Given the description of an element on the screen output the (x, y) to click on. 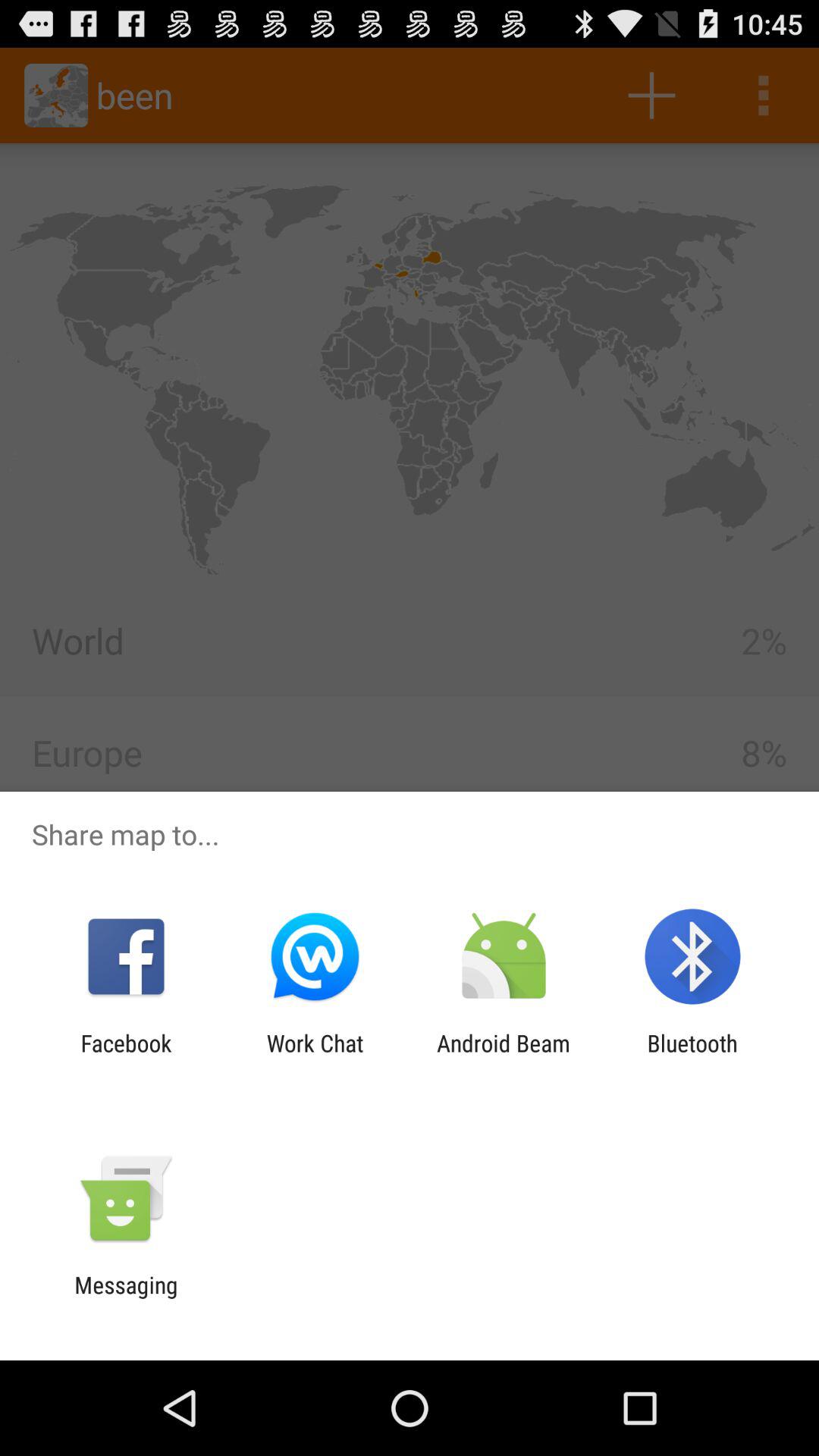
click the app next to bluetooth item (503, 1056)
